Given the description of an element on the screen output the (x, y) to click on. 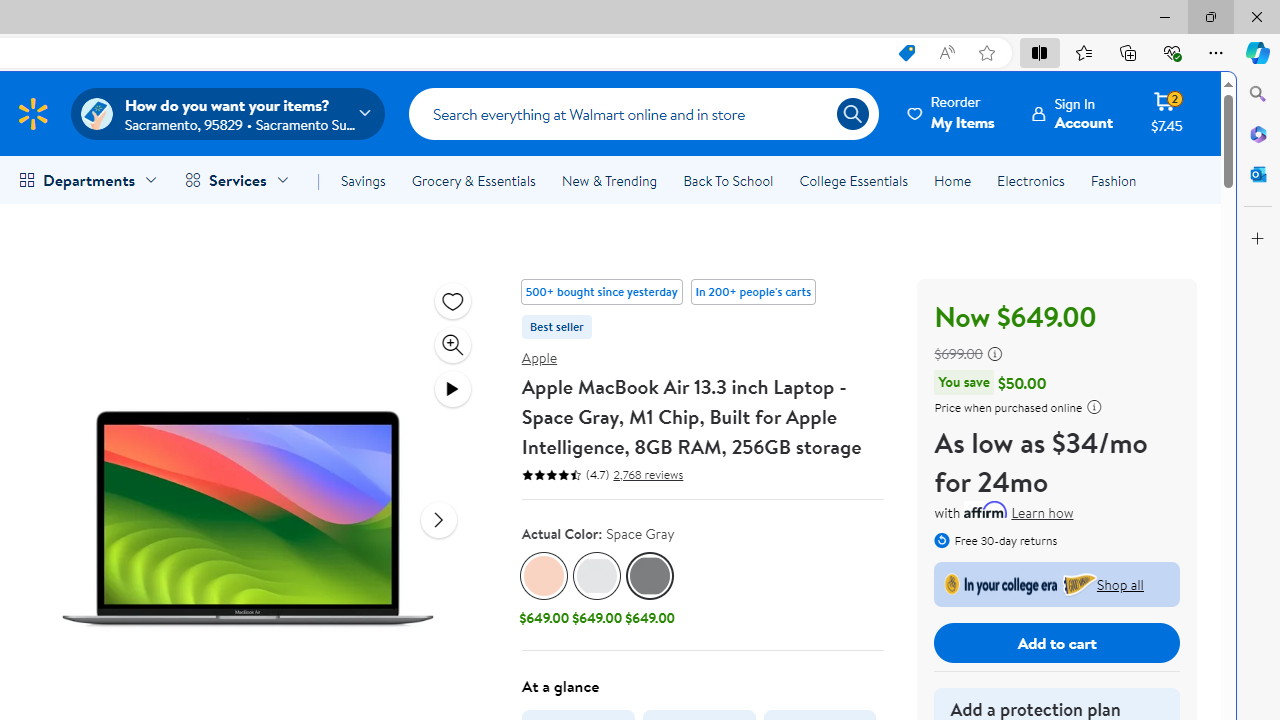
Gold, $649.00 (543, 591)
ReorderMy Items (952, 113)
Learn how (1042, 513)
College Essentials (852, 180)
Grocery & Essentials (473, 180)
Silver, $649.00 (596, 591)
Gold Gold, $649.00 (543, 591)
Space Gray selected, Space Gray, $649.00 (650, 591)
selected, Space Gray, $649.00 (650, 591)
College Essentials (852, 180)
Electronics (1030, 180)
